Given the description of an element on the screen output the (x, y) to click on. 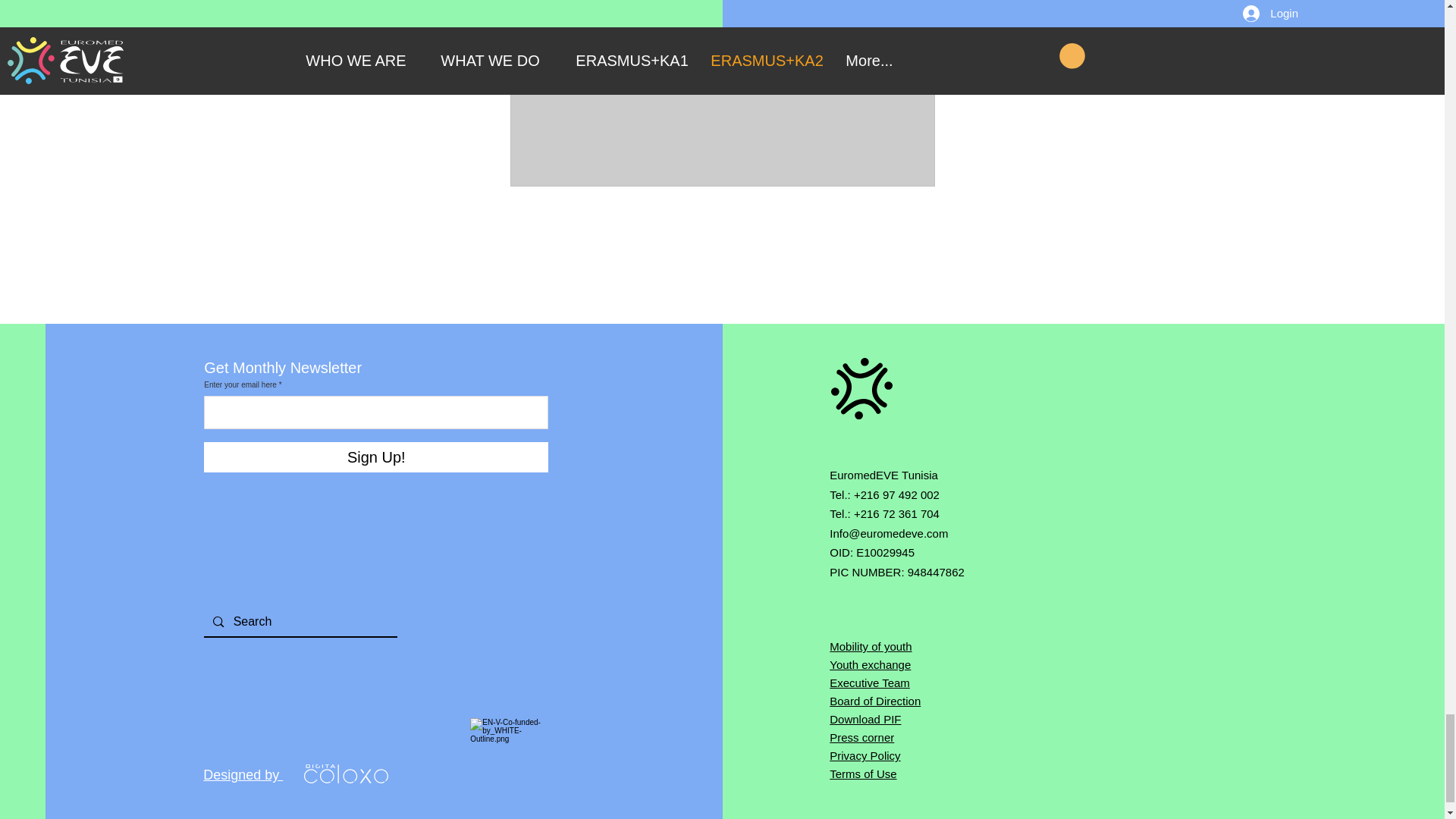
Sign Up! (375, 457)
